Given the description of an element on the screen output the (x, y) to click on. 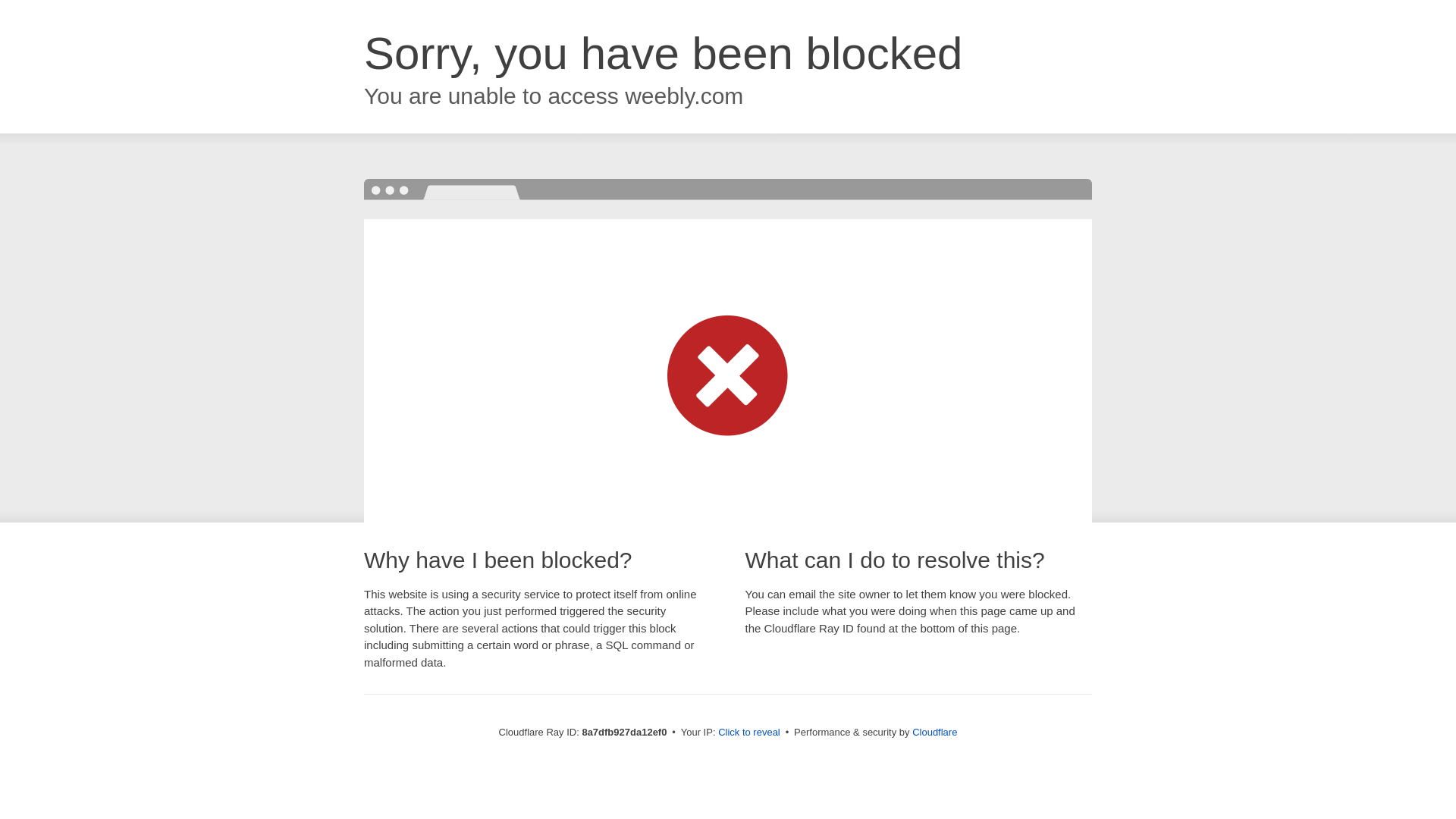
Click to reveal (748, 732)
Cloudflare (934, 731)
